Given the description of an element on the screen output the (x, y) to click on. 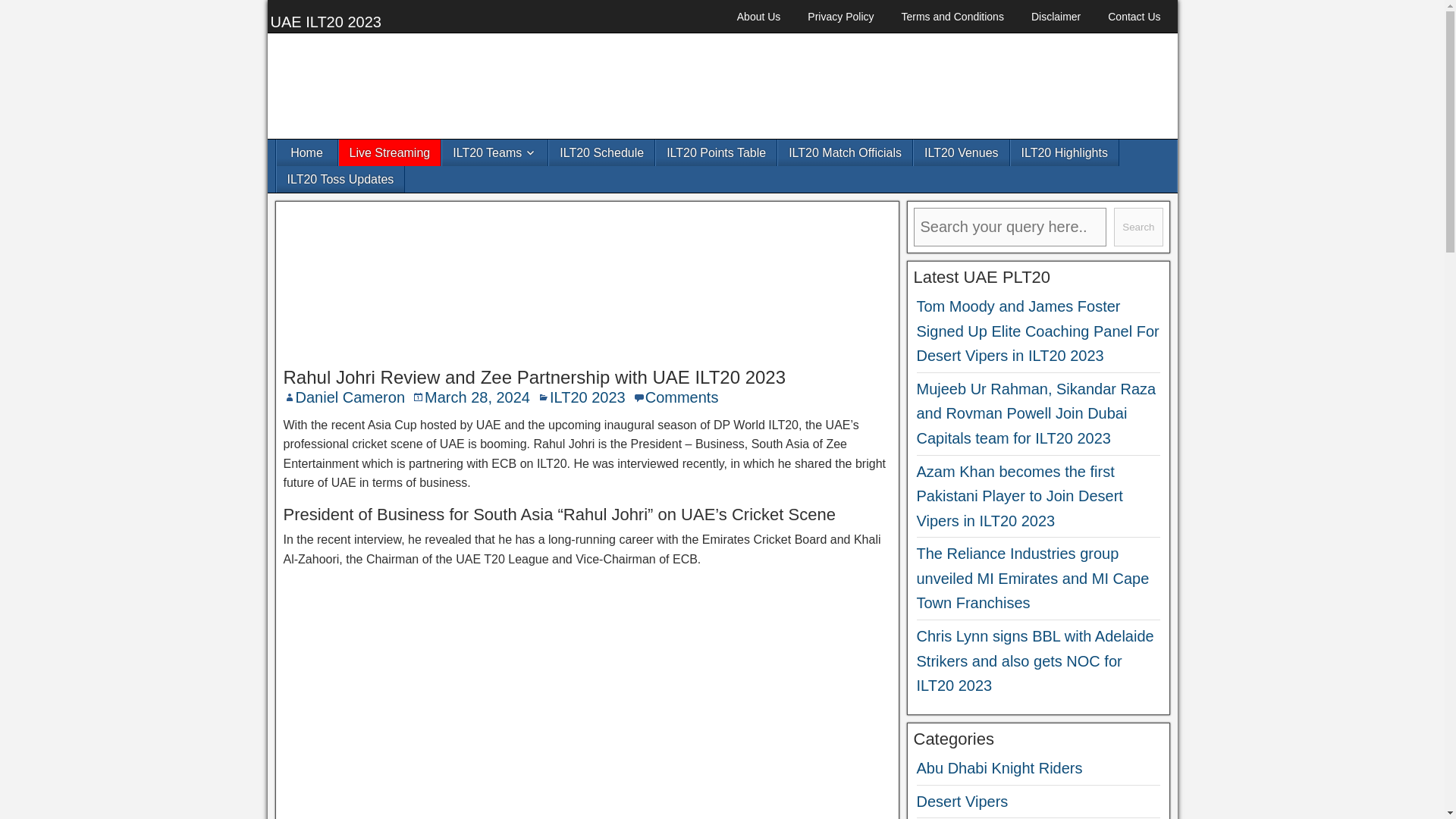
ILT20 Toss Updates (340, 179)
Contact Us (1133, 16)
ILT20 Points Table (716, 152)
Search (1137, 227)
Live Streaming (389, 152)
Disclaimer (1055, 16)
Daniel Cameron (350, 397)
ILT20 Venues (961, 152)
Comments (682, 397)
ILT20 Highlights (1064, 152)
UAE ILT20 2023 (324, 21)
March 28, 2024 (477, 397)
